Given the description of an element on the screen output the (x, y) to click on. 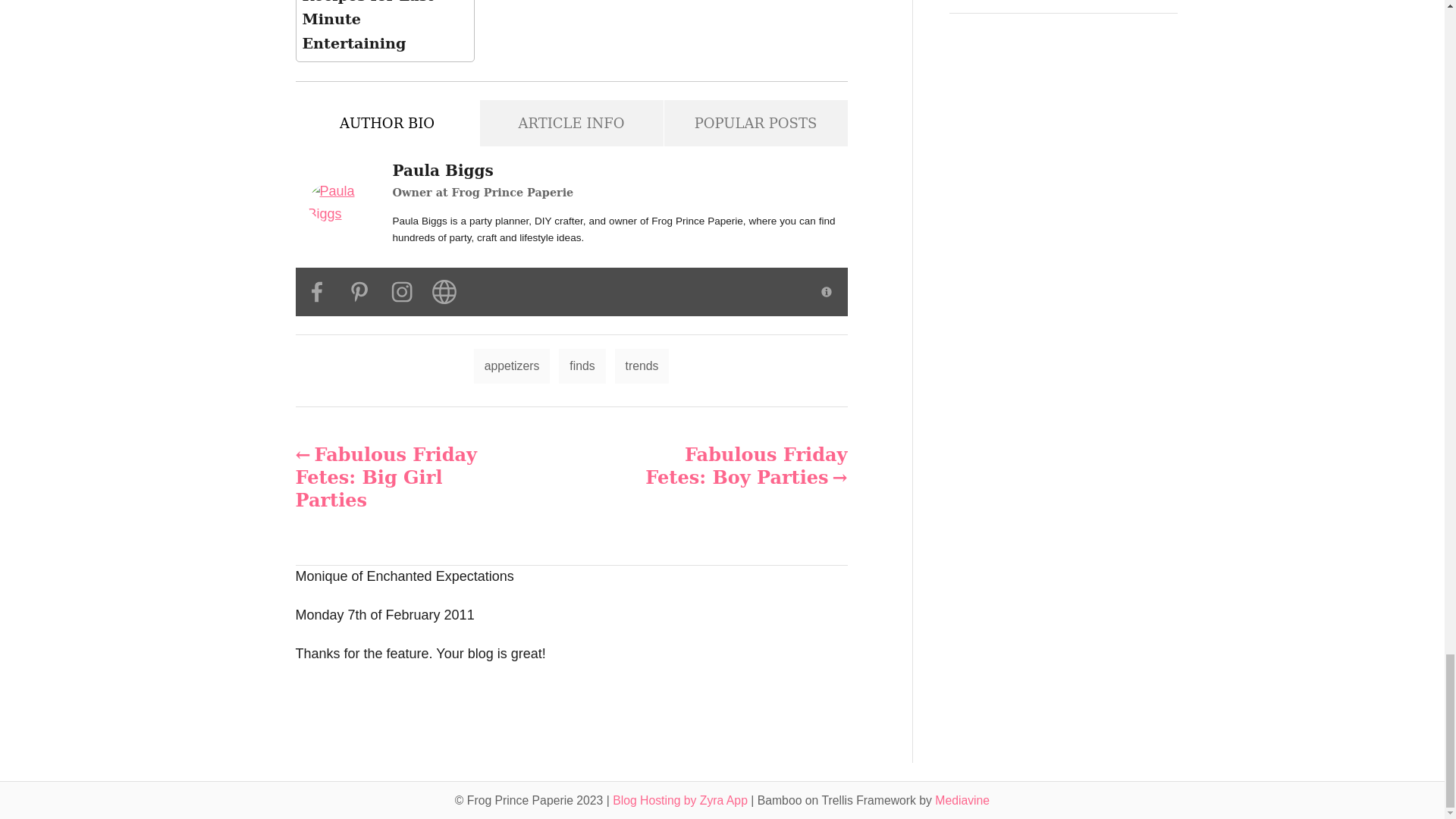
ARTICLE INFO (570, 122)
10 Appetizer Recipes for Last Minute Entertaining (384, 30)
POPULAR POSTS (755, 122)
AUTHOR BIO (387, 122)
Paula Biggs (343, 202)
